Given the description of an element on the screen output the (x, y) to click on. 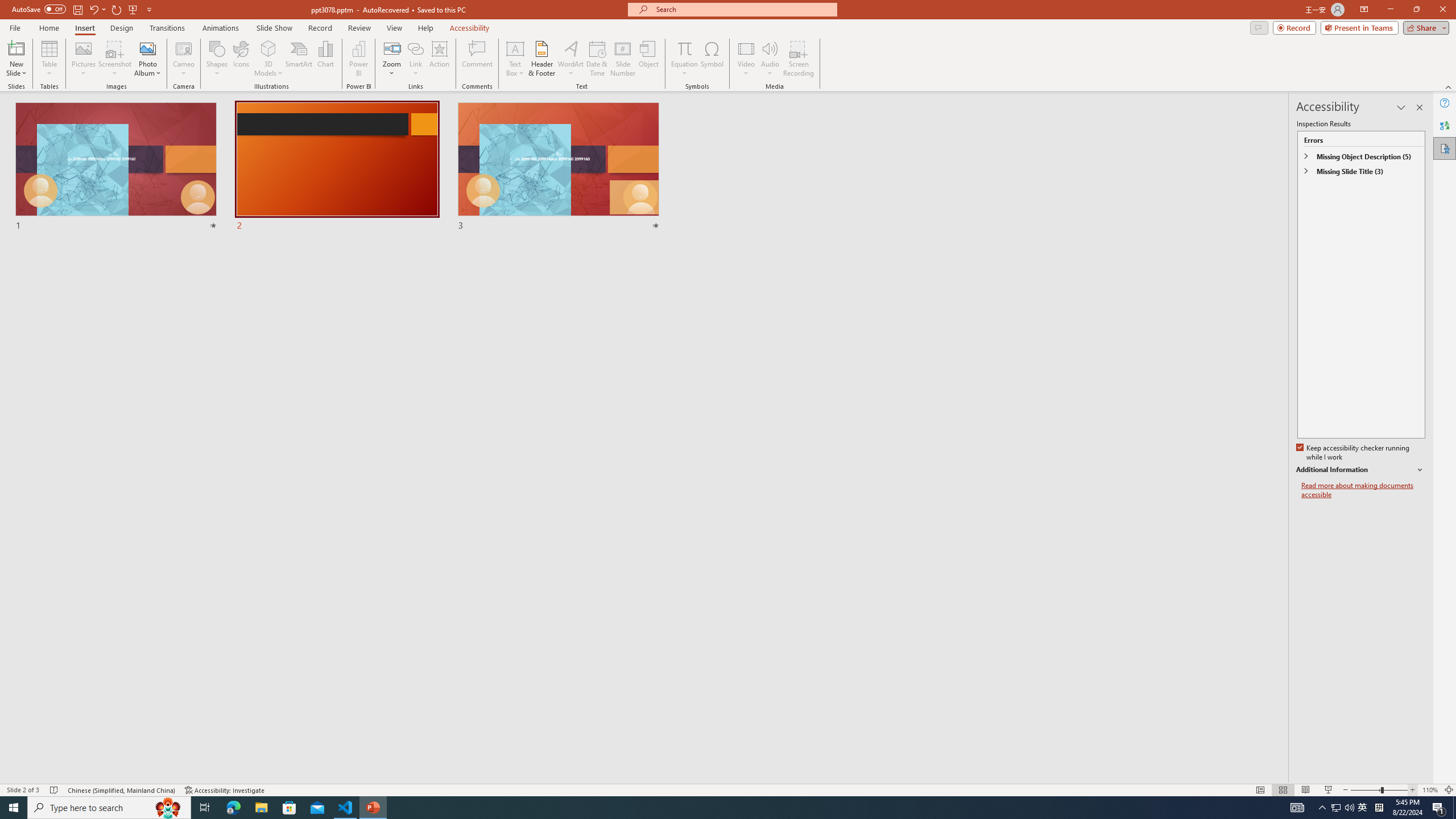
System (6, 6)
Customize Quick Access Toolbar (149, 9)
Cameo (183, 48)
Shapes (216, 58)
New Slide (16, 58)
Keep accessibility checker running while I work (1353, 452)
Additional Information (1360, 469)
AutoSave (38, 9)
System (6, 6)
Object... (649, 58)
Table (49, 58)
Record (1294, 27)
Photo Album... (147, 58)
Insert (83, 28)
Symbol... (711, 58)
